Given the description of an element on the screen output the (x, y) to click on. 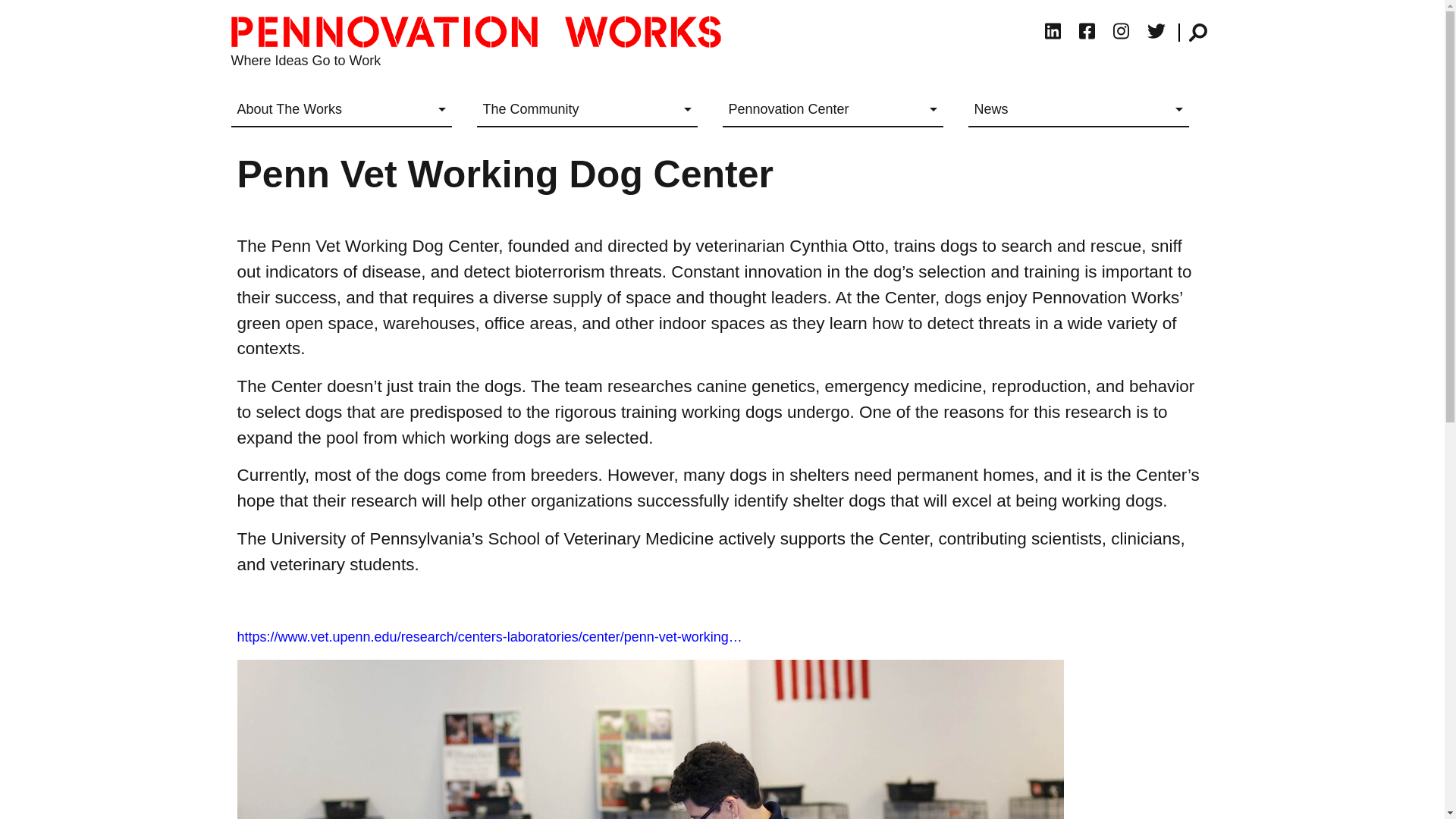
Expand menu News (1078, 110)
Expand menu About The Works (340, 110)
Twitter Link (1158, 31)
Vision (340, 148)
Introduction (586, 148)
About the Center (832, 148)
Expand menu Pennovation Center (832, 110)
Home (481, 31)
Expand menu The Community (586, 110)
News in The Works (1078, 148)
